Given the description of an element on the screen output the (x, y) to click on. 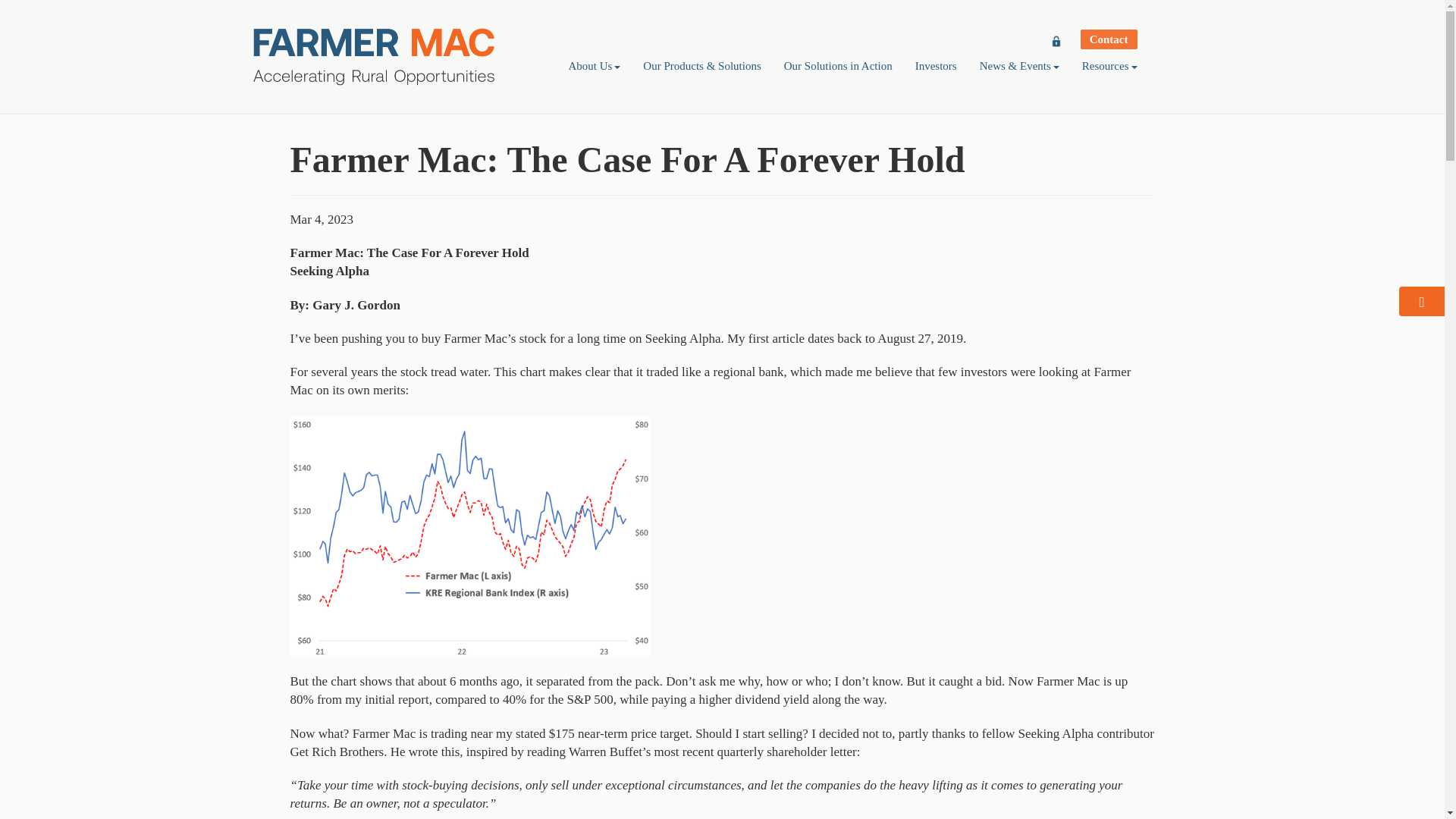
Contact (1108, 39)
Accelerating Rural Opportunities (373, 56)
Resources (1109, 65)
About Us (593, 65)
Investors (936, 65)
Our Solutions in Action (838, 65)
